Given the description of an element on the screen output the (x, y) to click on. 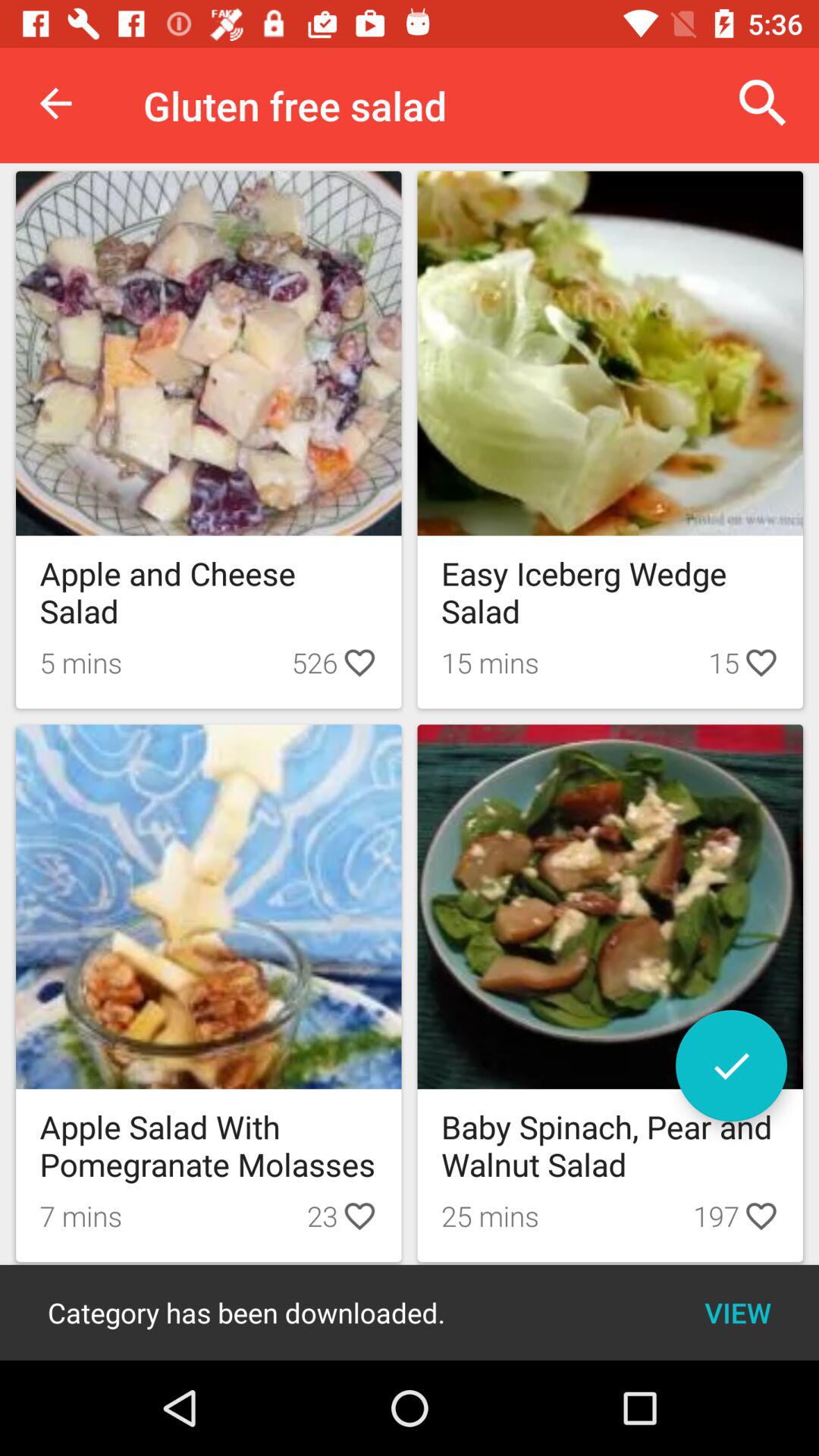
add item (731, 1065)
